Given the description of an element on the screen output the (x, y) to click on. 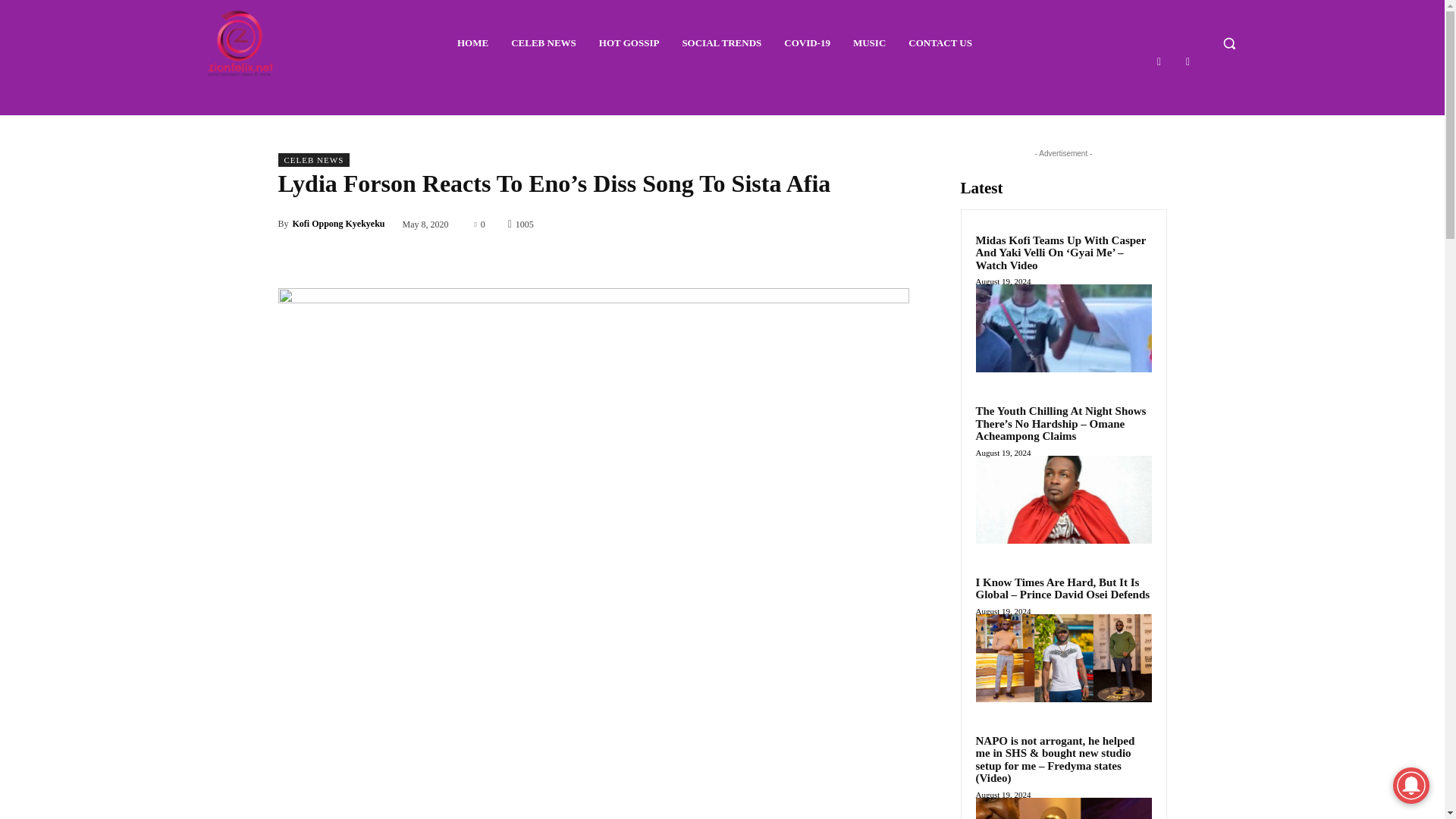
Instagram (1187, 61)
CELEB NEWS (543, 42)
COVID-19 (807, 42)
HOME (472, 42)
Facebook (1158, 61)
Kofi Oppong Kyekyeku (338, 223)
HOT GOSSIP (628, 42)
CONTACT US (940, 42)
MUSIC (869, 42)
